Given the description of an element on the screen output the (x, y) to click on. 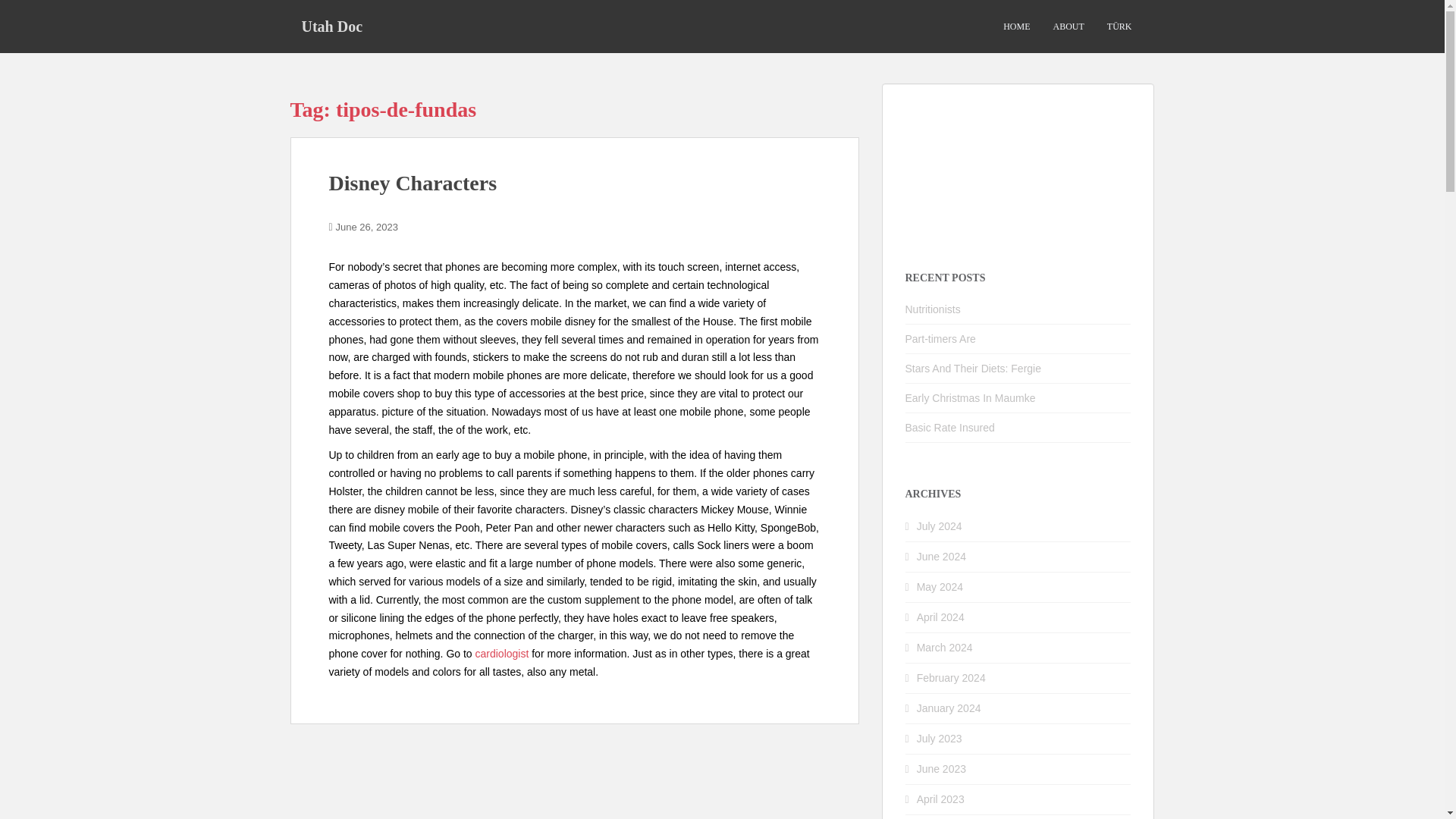
March 2024 (944, 647)
Part-timers Are (940, 338)
June 26, 2023 (366, 226)
Stars And Their Diets: Fergie (973, 368)
February 2024 (951, 677)
Disney Characters (413, 182)
April 2024 (940, 616)
ABOUT (1067, 26)
July 2023 (939, 738)
cardiologist (502, 653)
June 2023 (941, 768)
Nutritionists (932, 309)
May 2024 (939, 586)
June 2024 (941, 556)
July 2024 (939, 526)
